Given the description of an element on the screen output the (x, y) to click on. 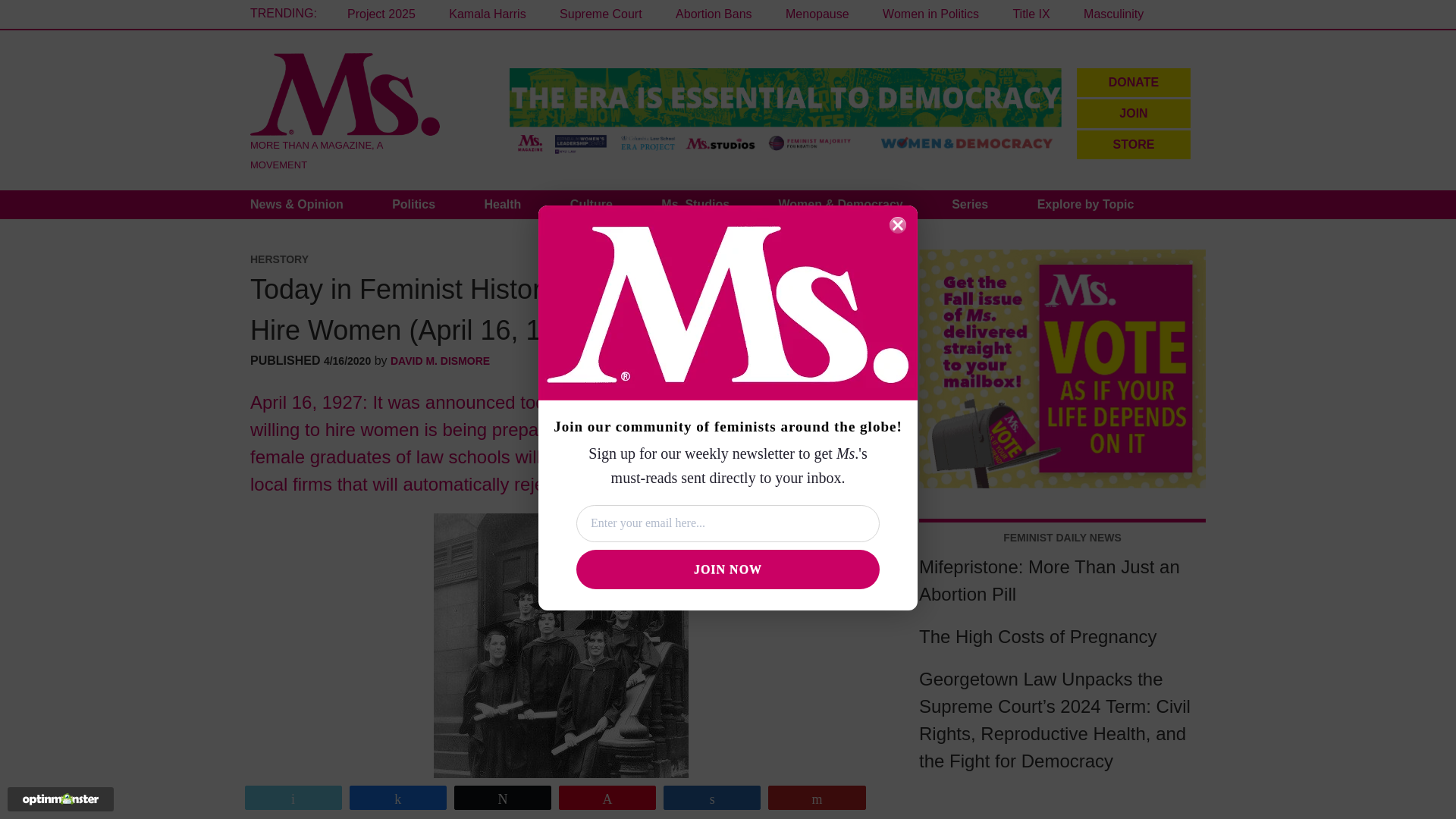
Explore by Topic (1085, 204)
Powered by OptinMonster (61, 799)
HERSTORY (279, 259)
STORE (1134, 144)
Posts by David M. Dismore (439, 360)
JOIN (1134, 113)
Culture (590, 204)
JOIN NOW (727, 568)
Women in Politics (930, 13)
Health (502, 204)
DAVID M. DISMORE (439, 360)
Project 2025 (380, 13)
Menopause (817, 13)
Abortion Bans (713, 13)
Masculinity (1112, 13)
